Given the description of an element on the screen output the (x, y) to click on. 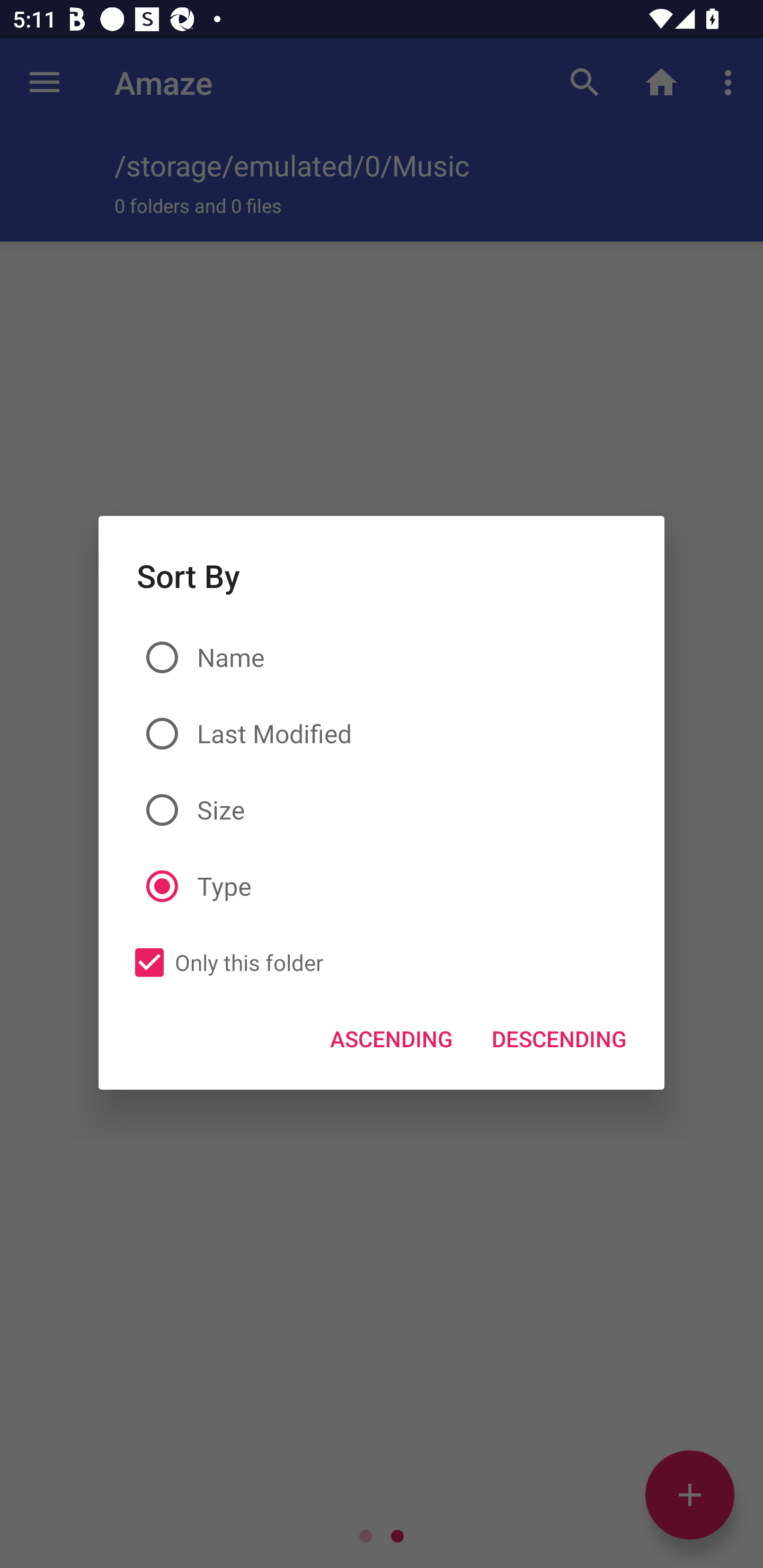
Name (381, 657)
Last Modified (381, 733)
Size (381, 809)
Type (381, 886)
Only this folder (223, 962)
ASCENDING (391, 1038)
DESCENDING (558, 1038)
